Given the description of an element on the screen output the (x, y) to click on. 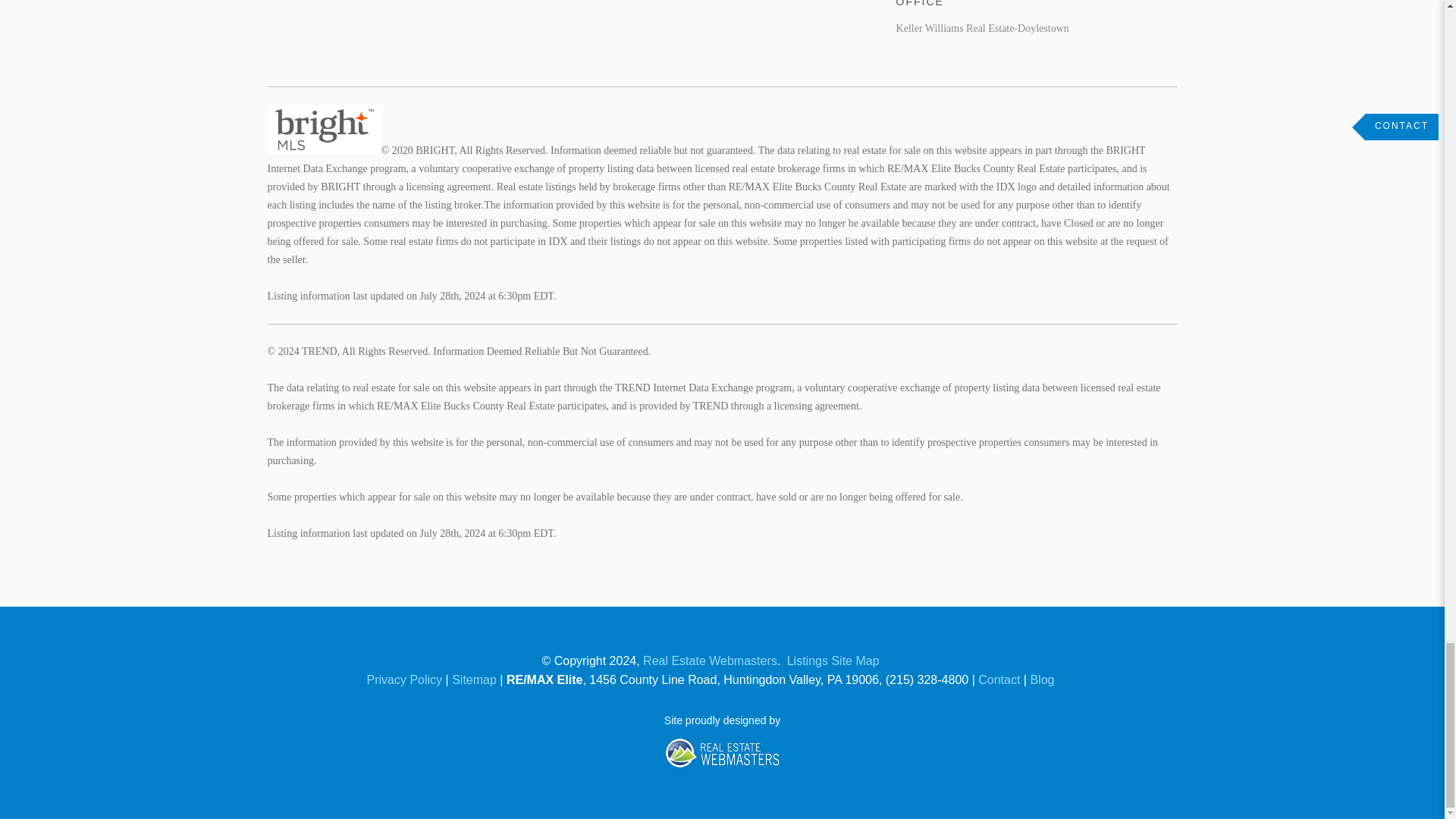
Real Estate Web Design by Real Estate Webmasters (921, 785)
